Given the description of an element on the screen output the (x, y) to click on. 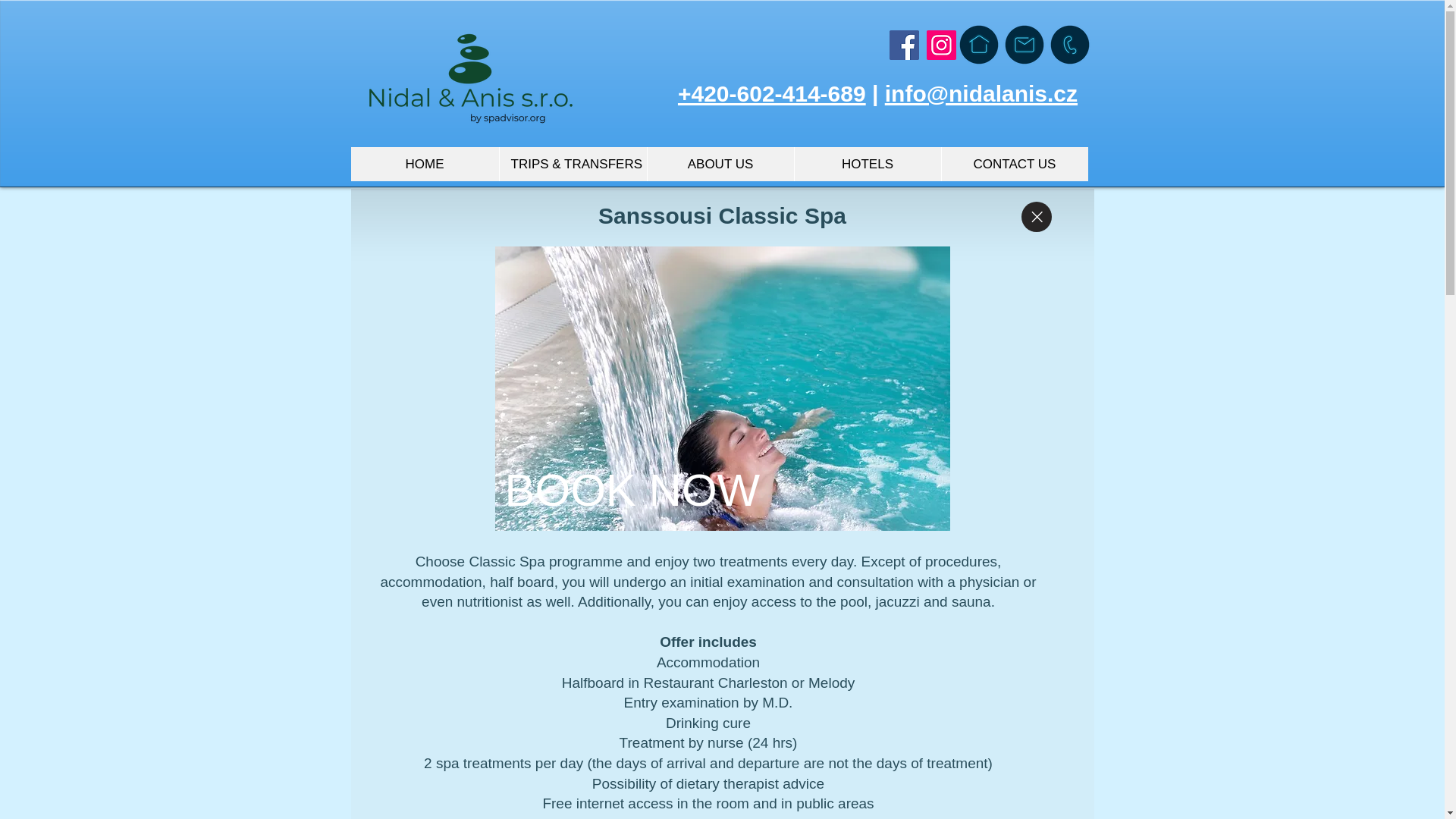
HOME (423, 163)
CONTACT US (1013, 163)
ABOUT US (719, 163)
HOTELS (866, 163)
